Given the description of an element on the screen output the (x, y) to click on. 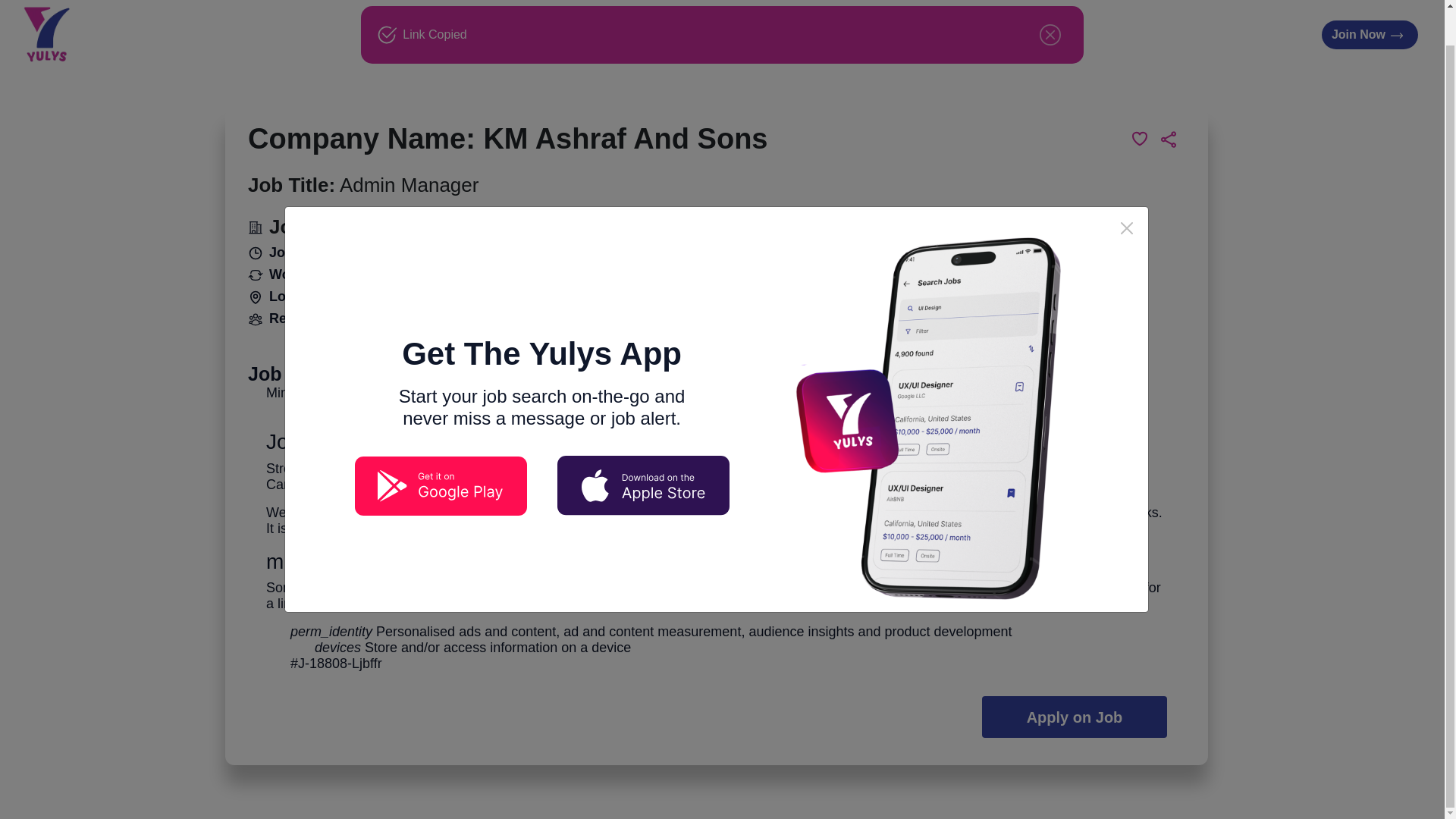
Employers (723, 34)
Job Title: Admin Manager (363, 184)
Job Seeker (624, 34)
Join Now (1370, 34)
Blog (796, 34)
Apply on Job (1074, 716)
